Given the description of an element on the screen output the (x, y) to click on. 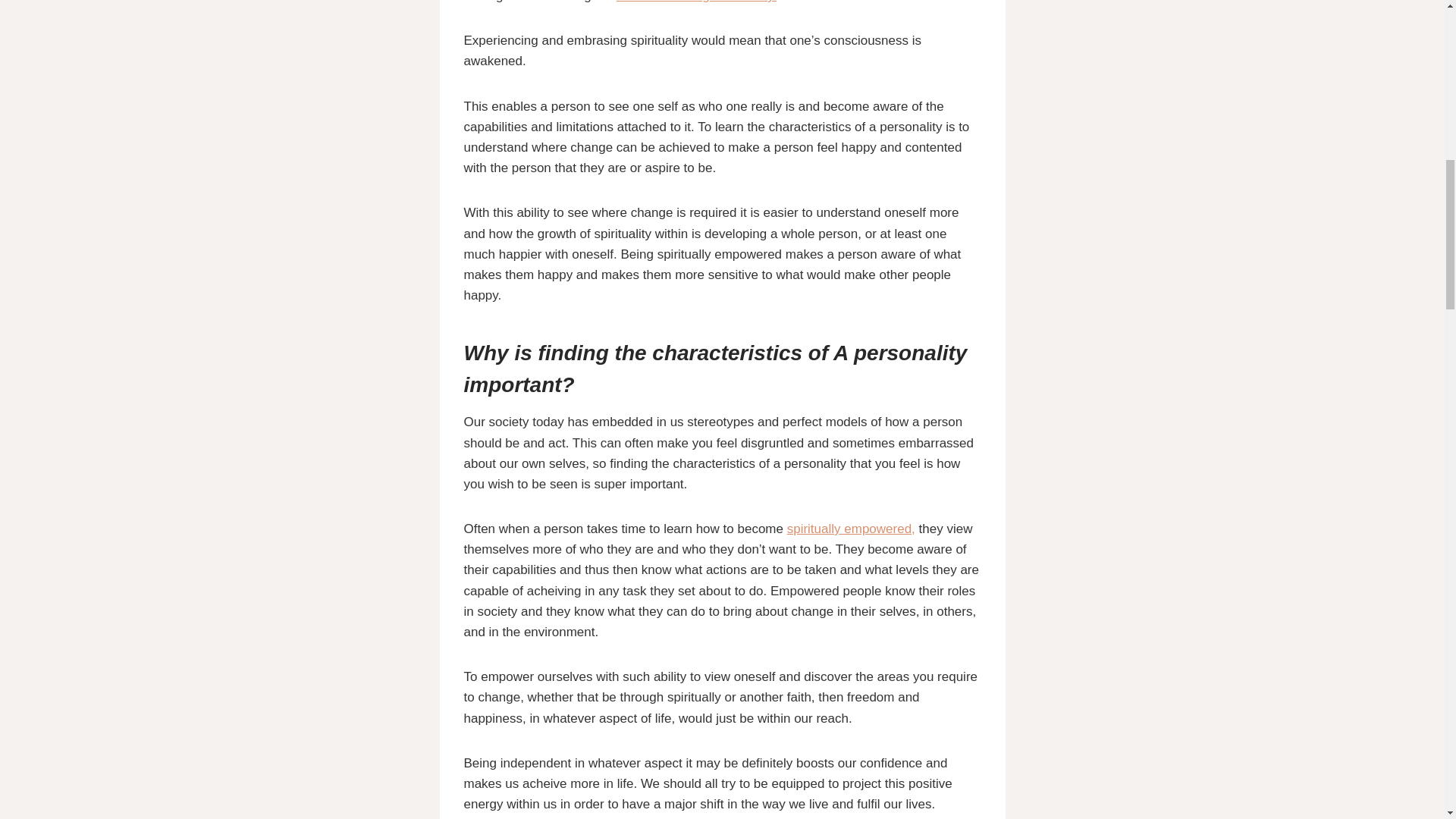
spiritually empowered, (851, 528)
art of embracing a new way. (695, 1)
